Given the description of an element on the screen output the (x, y) to click on. 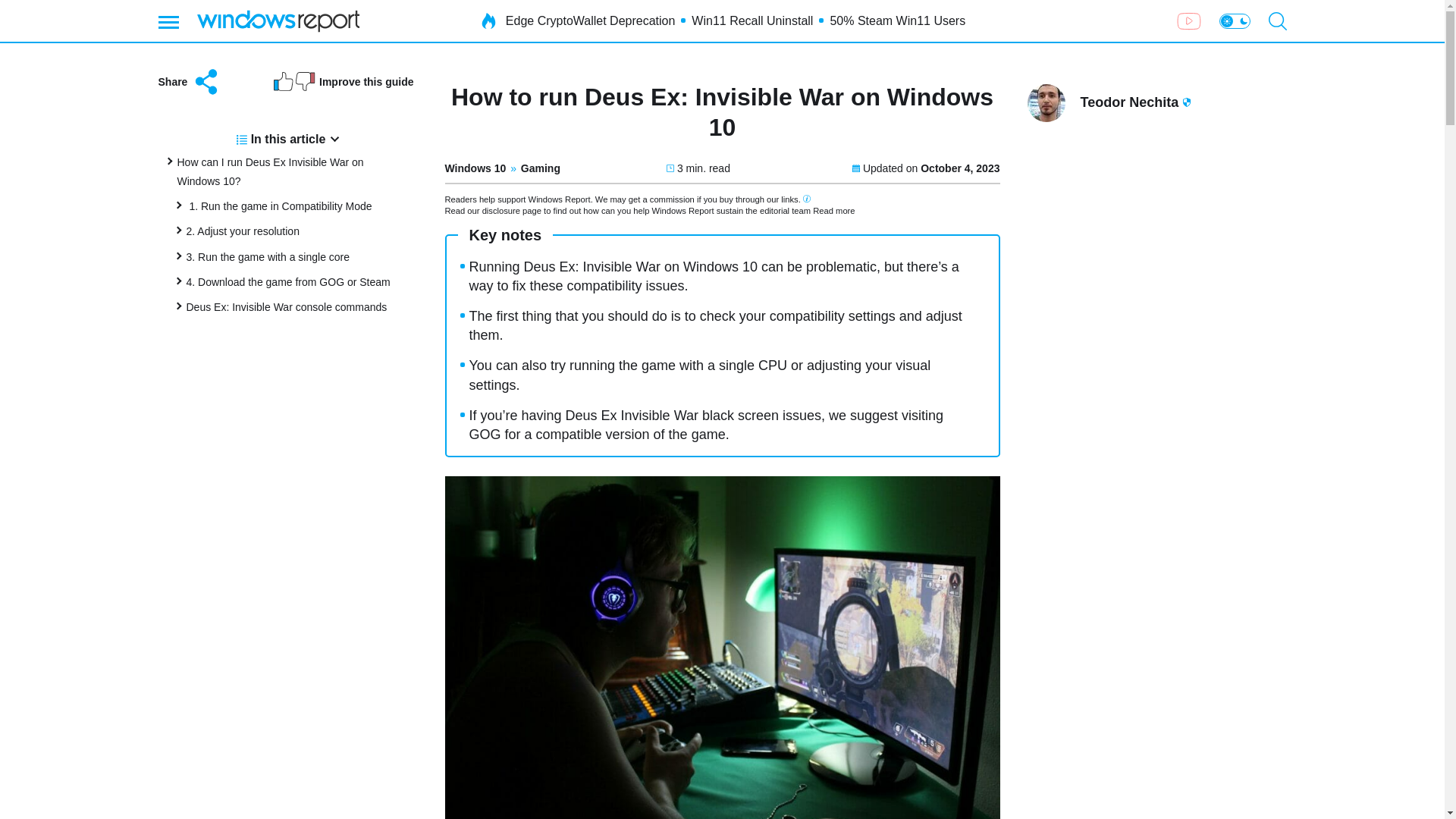
Share (189, 81)
Open search bar (1276, 21)
2. Adjust your resolution (242, 231)
How can I run Deus Ex Invisible War on Windows 10? (270, 171)
Edge CryptoWallet Deprecation (590, 21)
Deus Ex: Invisible War console commands (286, 306)
Win11 Recall Uninstall (751, 21)
4. Download the game from GOG or Steam (288, 282)
3. Run the game with a single core (268, 256)
Share this article (189, 81)
